Given the description of an element on the screen output the (x, y) to click on. 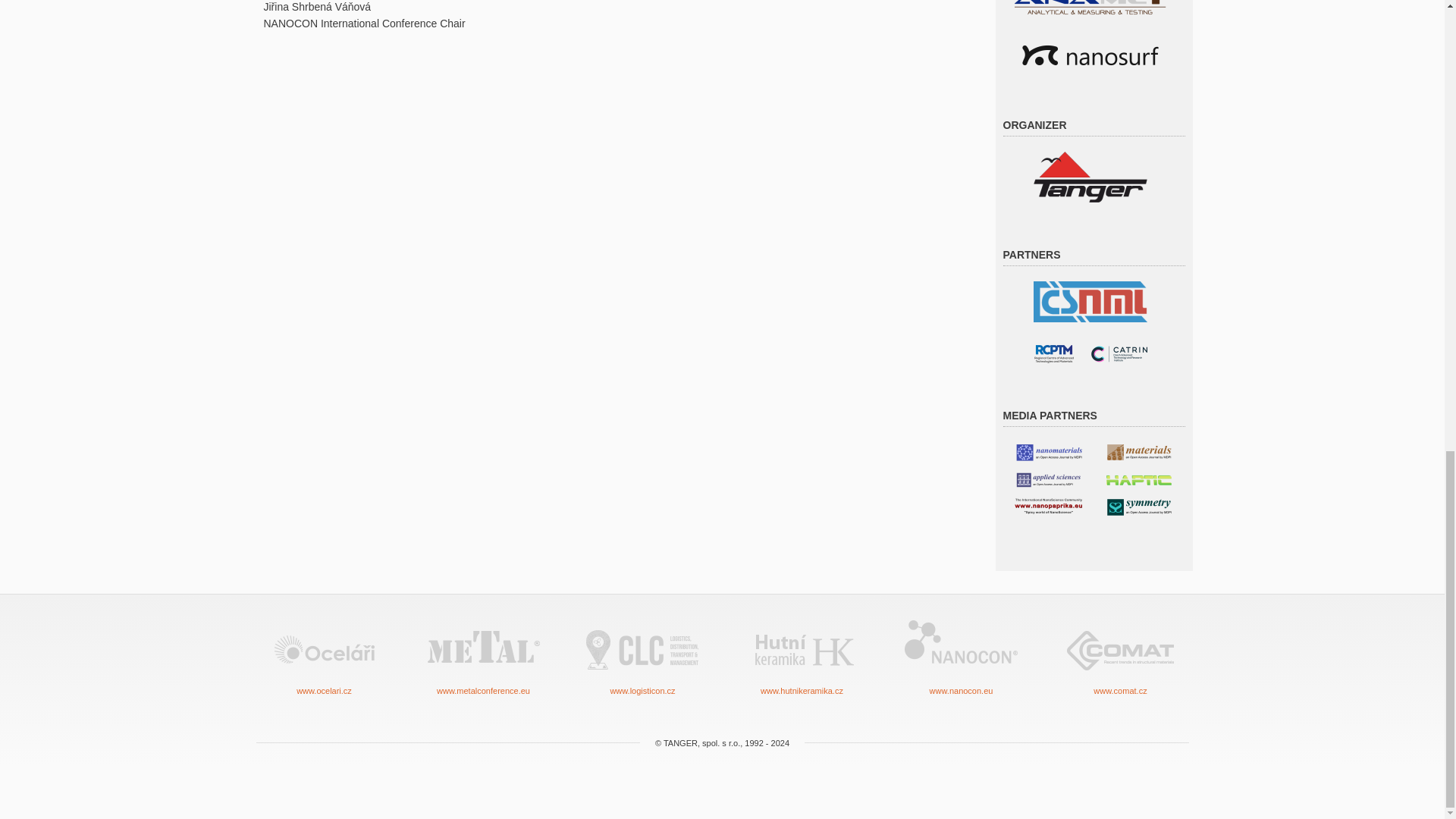
Nanosurf GmbH (1090, 53)
ANAMET s.r.o. (1090, 2)
TANGER, Ltd. (1089, 175)
